Given the description of an element on the screen output the (x, y) to click on. 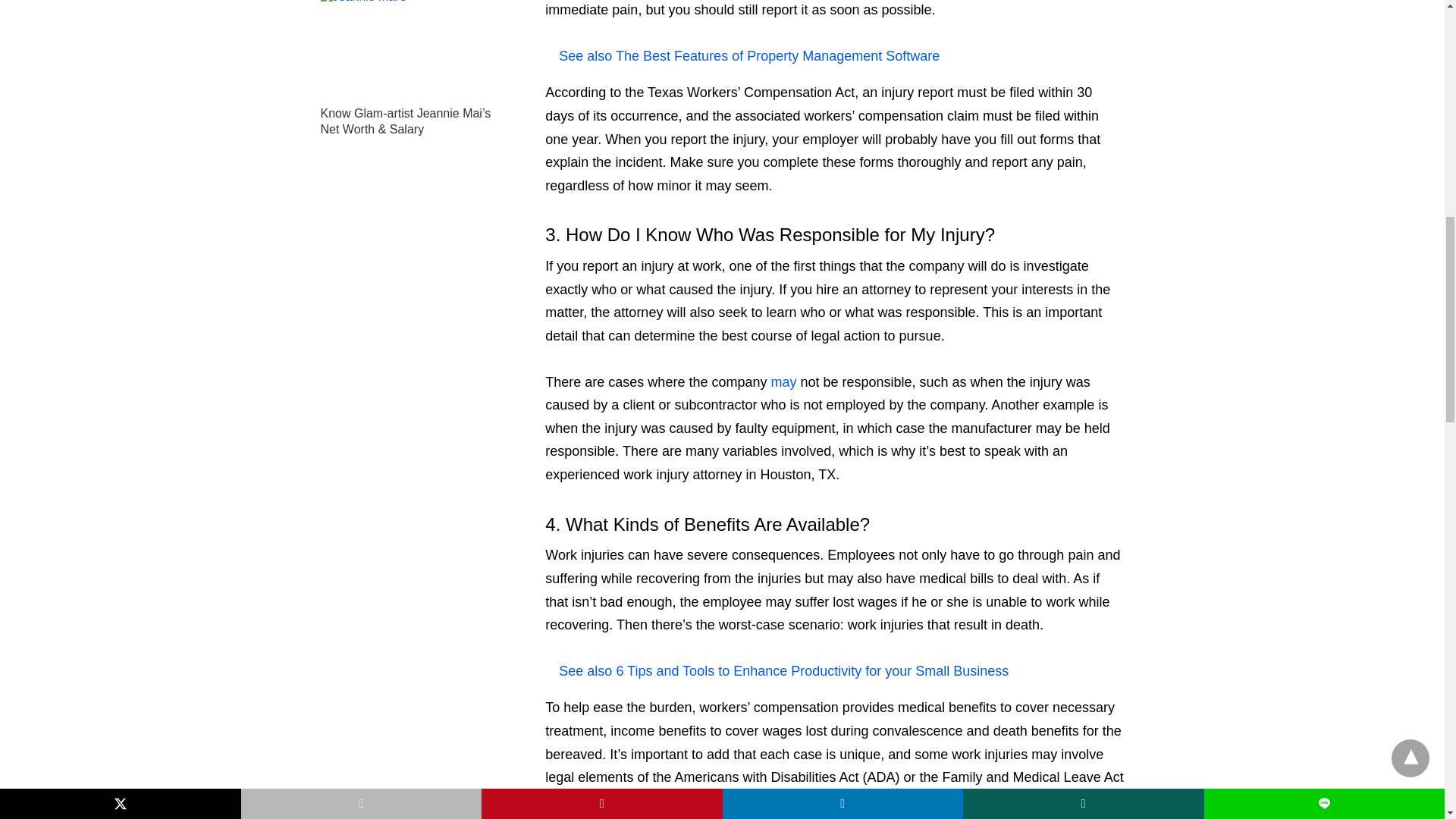
See also The Best Features of Property Management Software (834, 56)
may (783, 381)
